Given the description of an element on the screen output the (x, y) to click on. 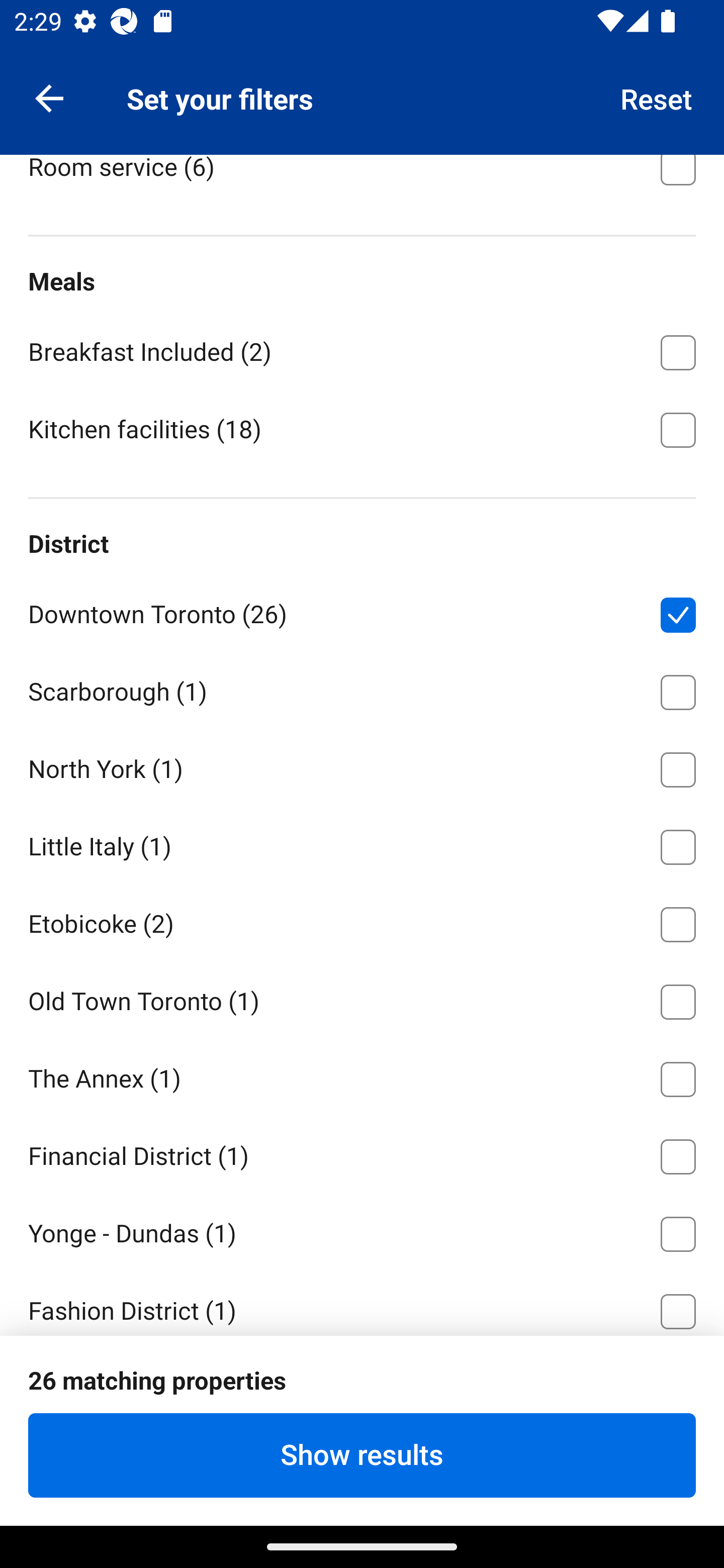
Electric vehicle charging station ⁦(3) (361, 86)
Navigate up (49, 97)
Reset (656, 97)
Room service ⁦(6) (361, 180)
Breakfast Included ⁦(2) (361, 348)
Kitchen facilities ⁦(18) (361, 427)
Downtown Toronto ⁦(26) (361, 611)
Scarborough ⁦(1) (361, 688)
North York ⁦(1) (361, 765)
Little Italy ⁦(1) (361, 843)
Etobicoke ⁦(2) (361, 920)
Old Town Toronto ⁦(1) (361, 998)
The Annex ⁦(1) (361, 1076)
Financial District ⁦(1) (361, 1152)
Yonge - Dundas ⁦(1) (361, 1230)
Fashion District ⁦(1) (361, 1302)
Bloor-Yorkville ⁦(4) (361, 1384)
The Harbourfront ⁦(4) (361, 1462)
